Given the description of an element on the screen output the (x, y) to click on. 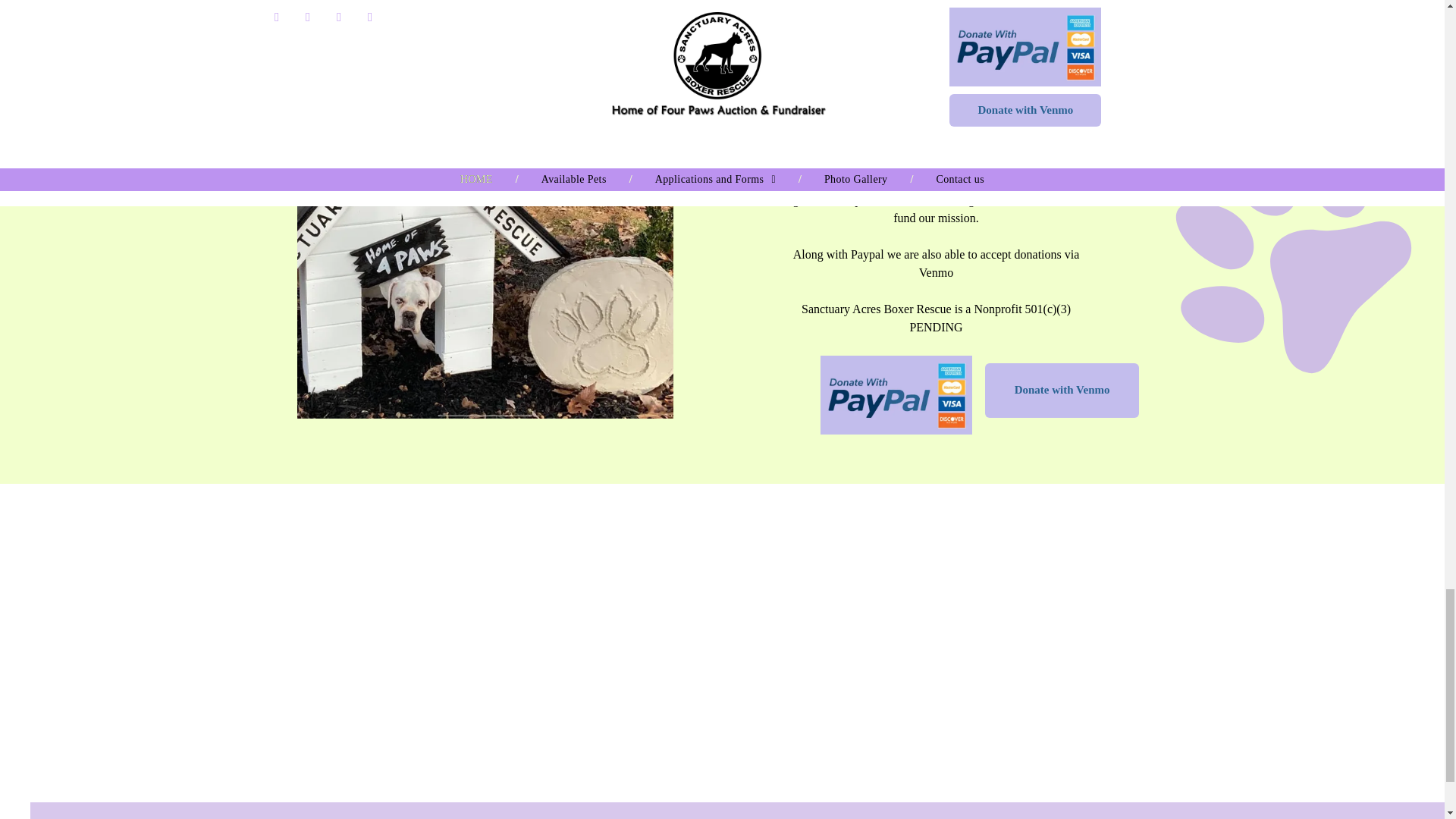
Facebook (1273, 52)
Facebook (316, 48)
